Given the description of an element on the screen output the (x, y) to click on. 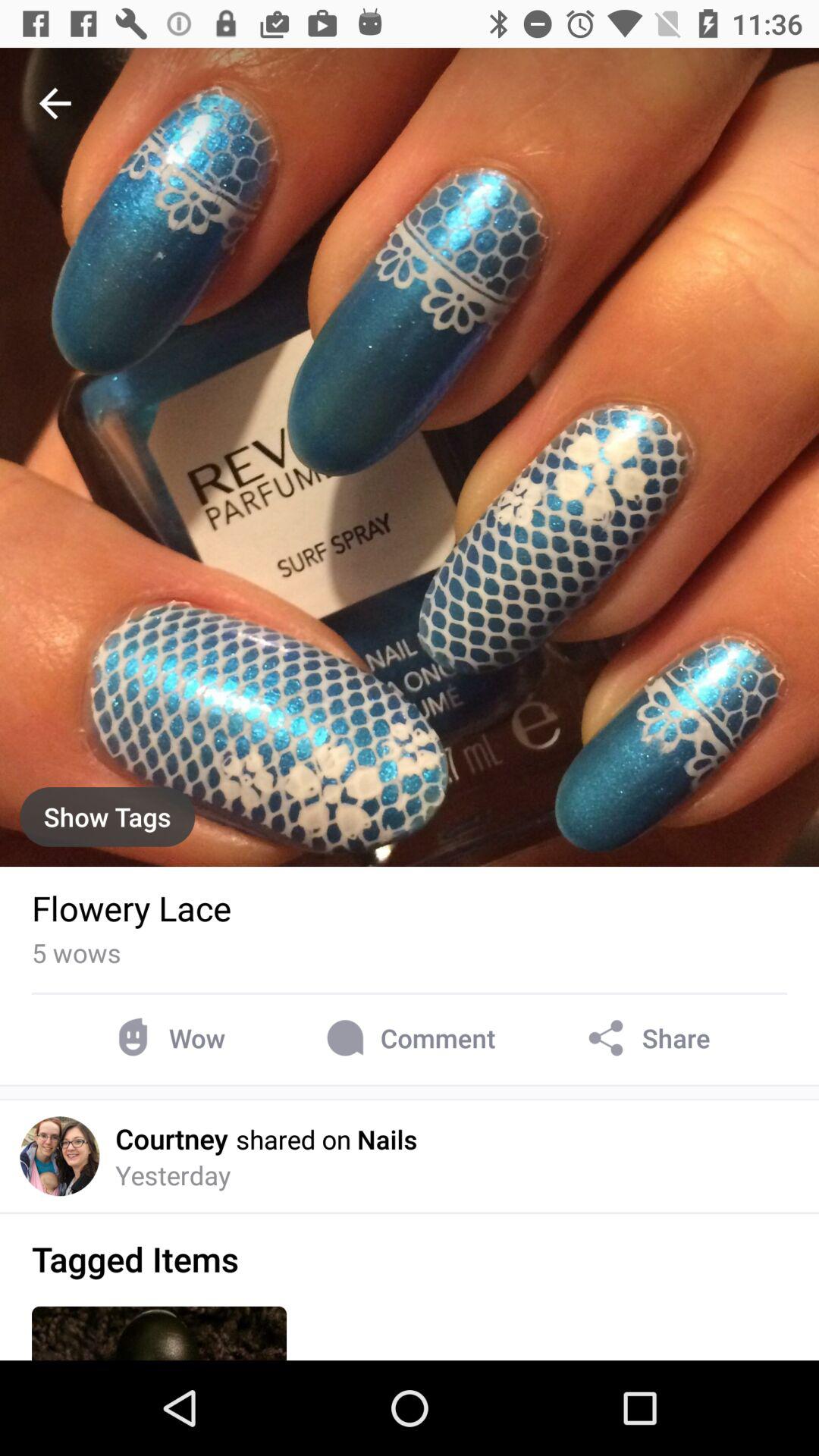
turn off the icon to the right of the comment (646, 1038)
